Given the description of an element on the screen output the (x, y) to click on. 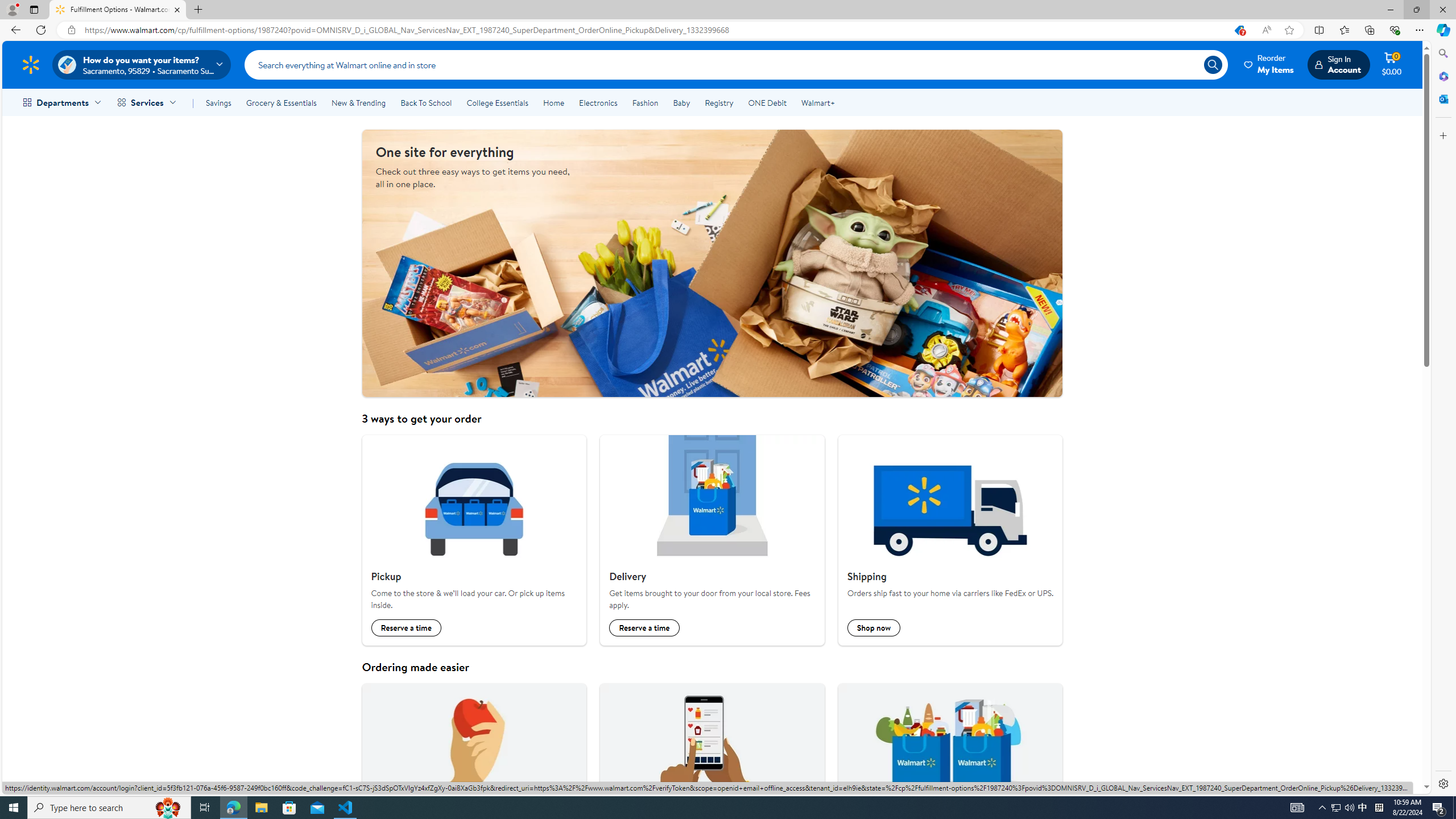
ONE Debit (767, 102)
Walmart Homepage (30, 64)
Fashion (644, 102)
Fulfillment Options - Walmart.com (117, 9)
College Essentials (496, 102)
New & Trending (358, 102)
Baby (681, 102)
New & Trending (358, 102)
Registry (718, 102)
